Given the description of an element on the screen output the (x, y) to click on. 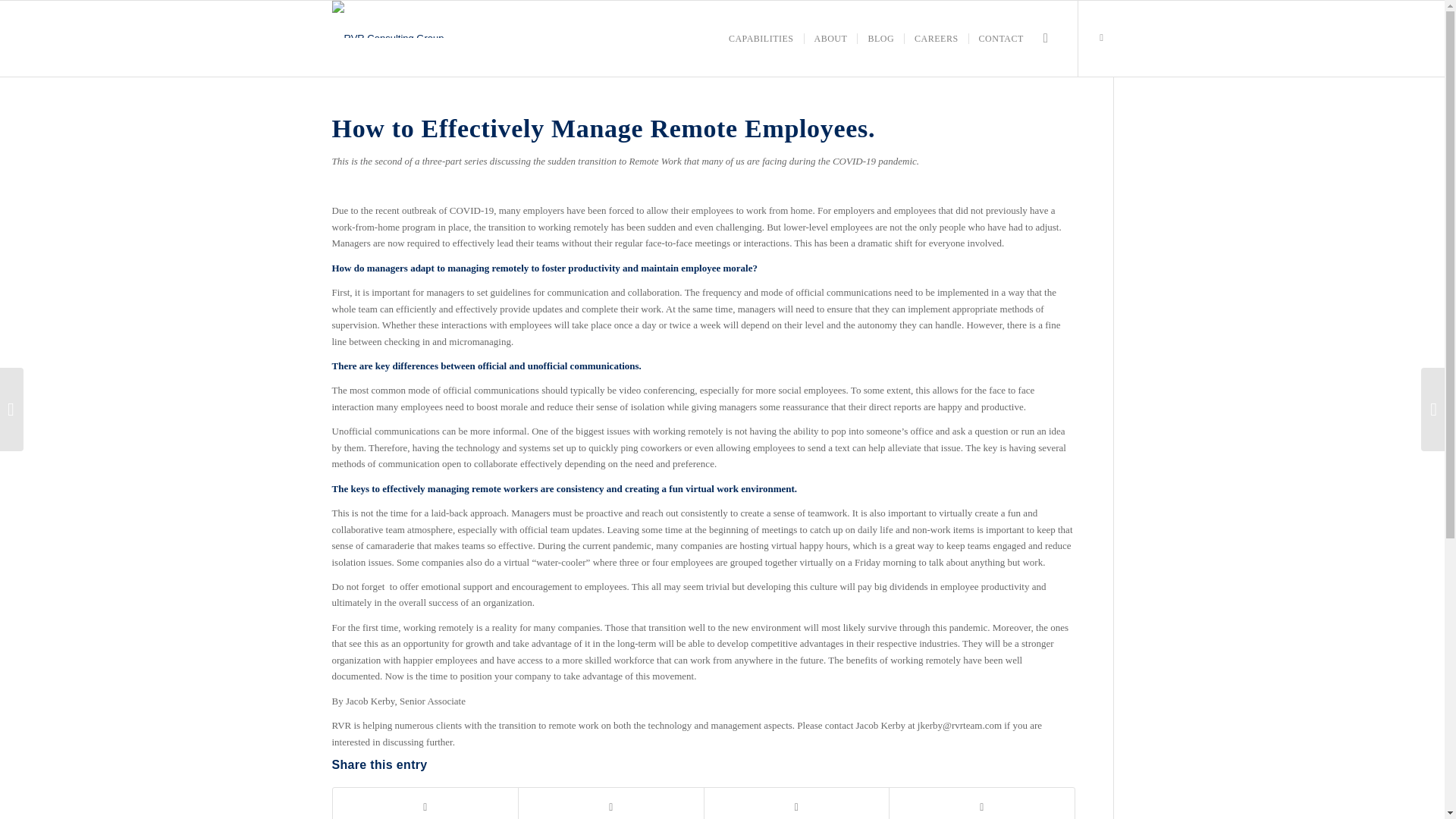
CAPABILITIES (761, 38)
Linkedin (1101, 37)
